Given the description of an element on the screen output the (x, y) to click on. 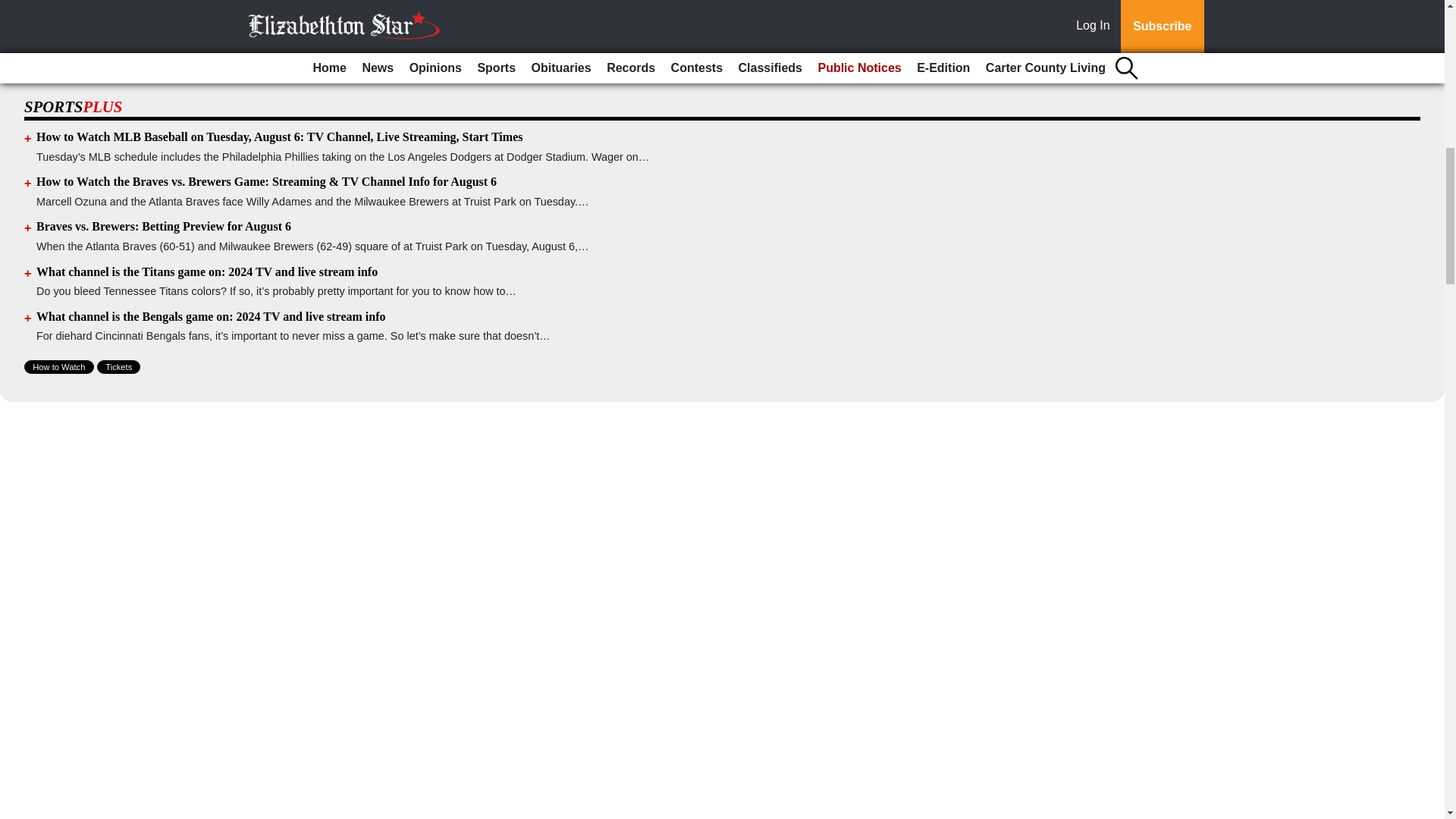
How to Watch (59, 366)
Tickets (118, 366)
Braves vs. Brewers: Betting Preview for August 6 (163, 226)
